Given the description of an element on the screen output the (x, y) to click on. 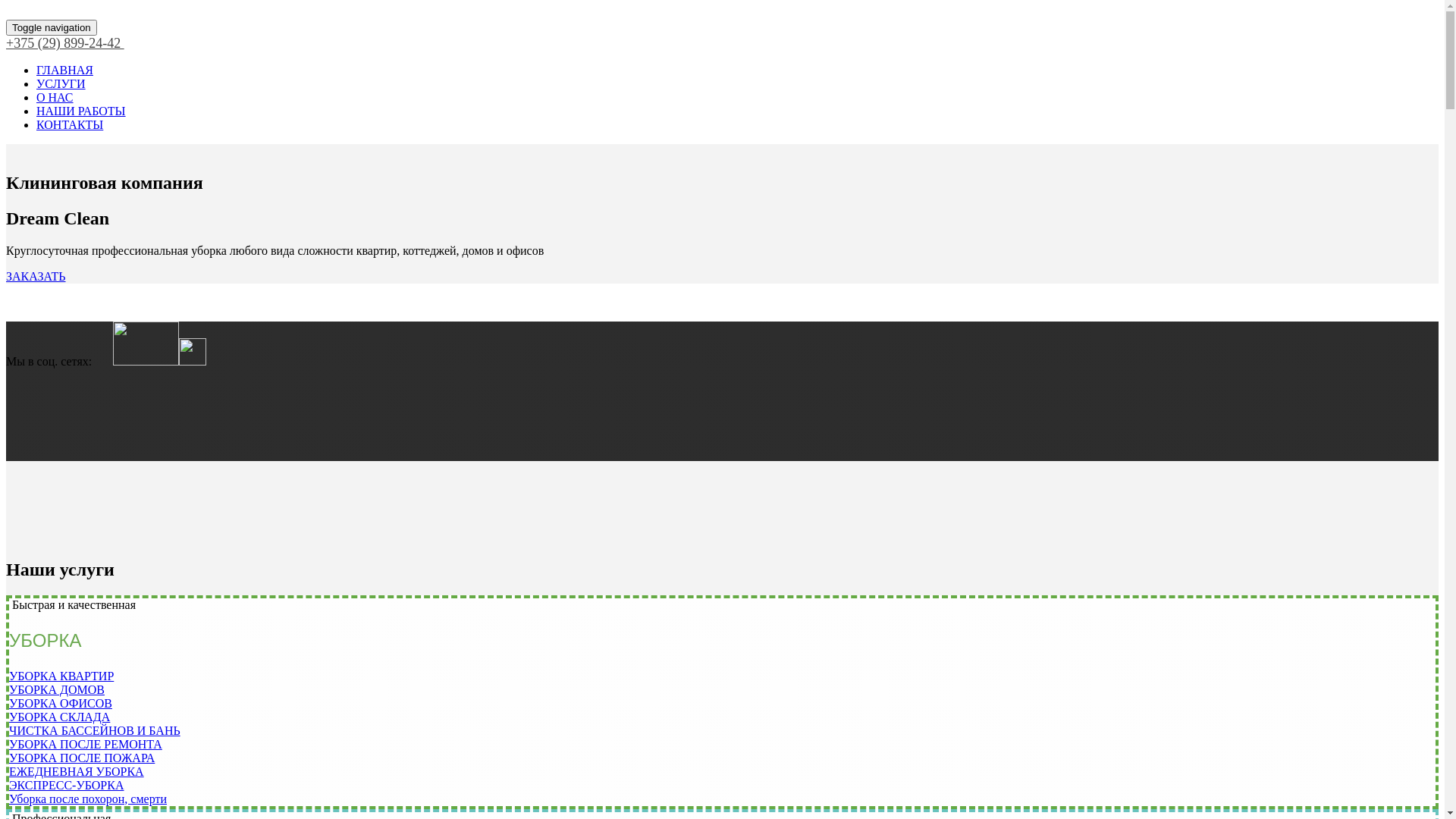
+375 (29) 899-24-42 Element type: text (65, 42)
Toggle navigation Element type: text (51, 27)
